Given the description of an element on the screen output the (x, y) to click on. 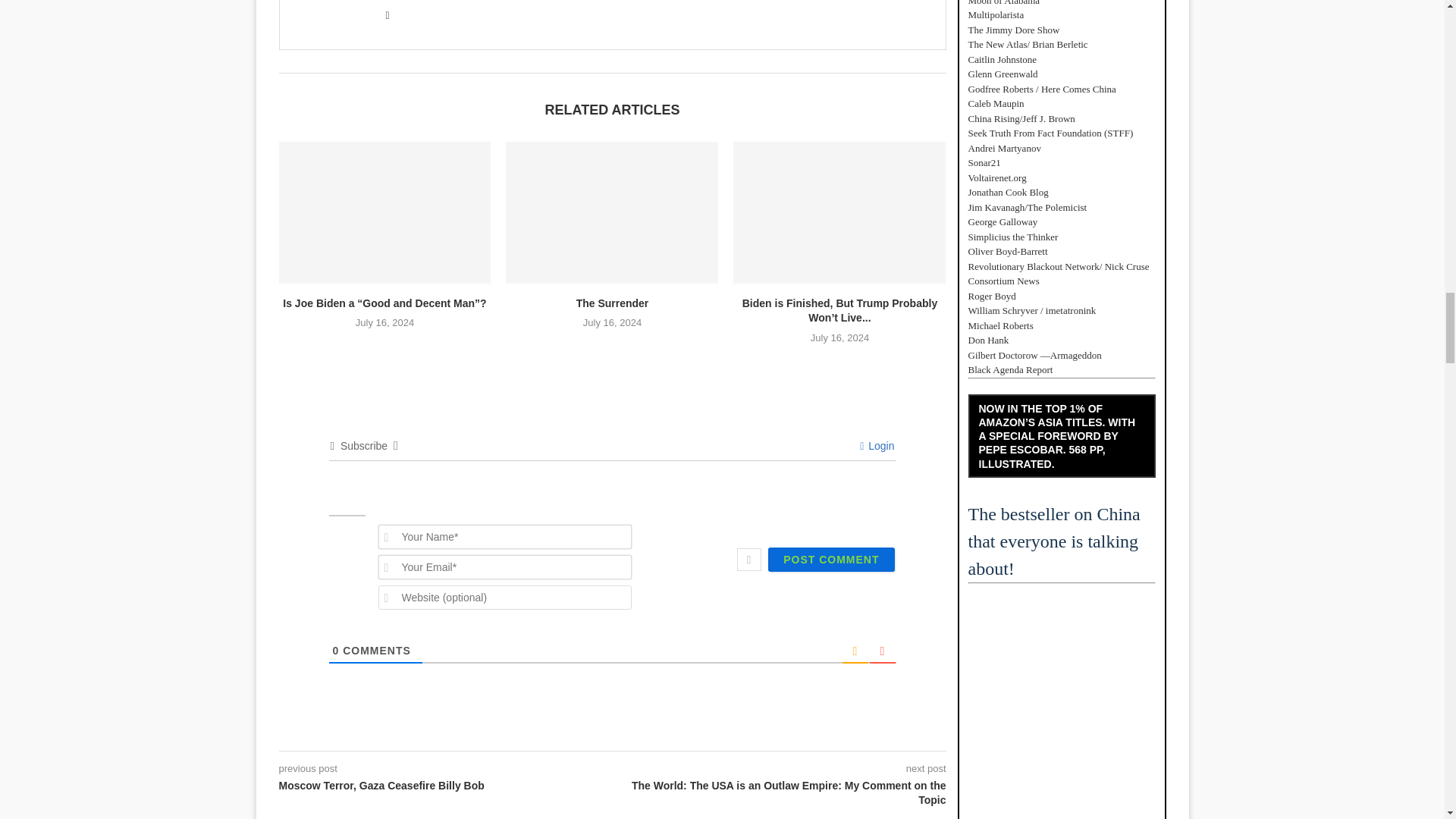
Post Comment (830, 559)
The Surrender (611, 212)
